Given the description of an element on the screen output the (x, y) to click on. 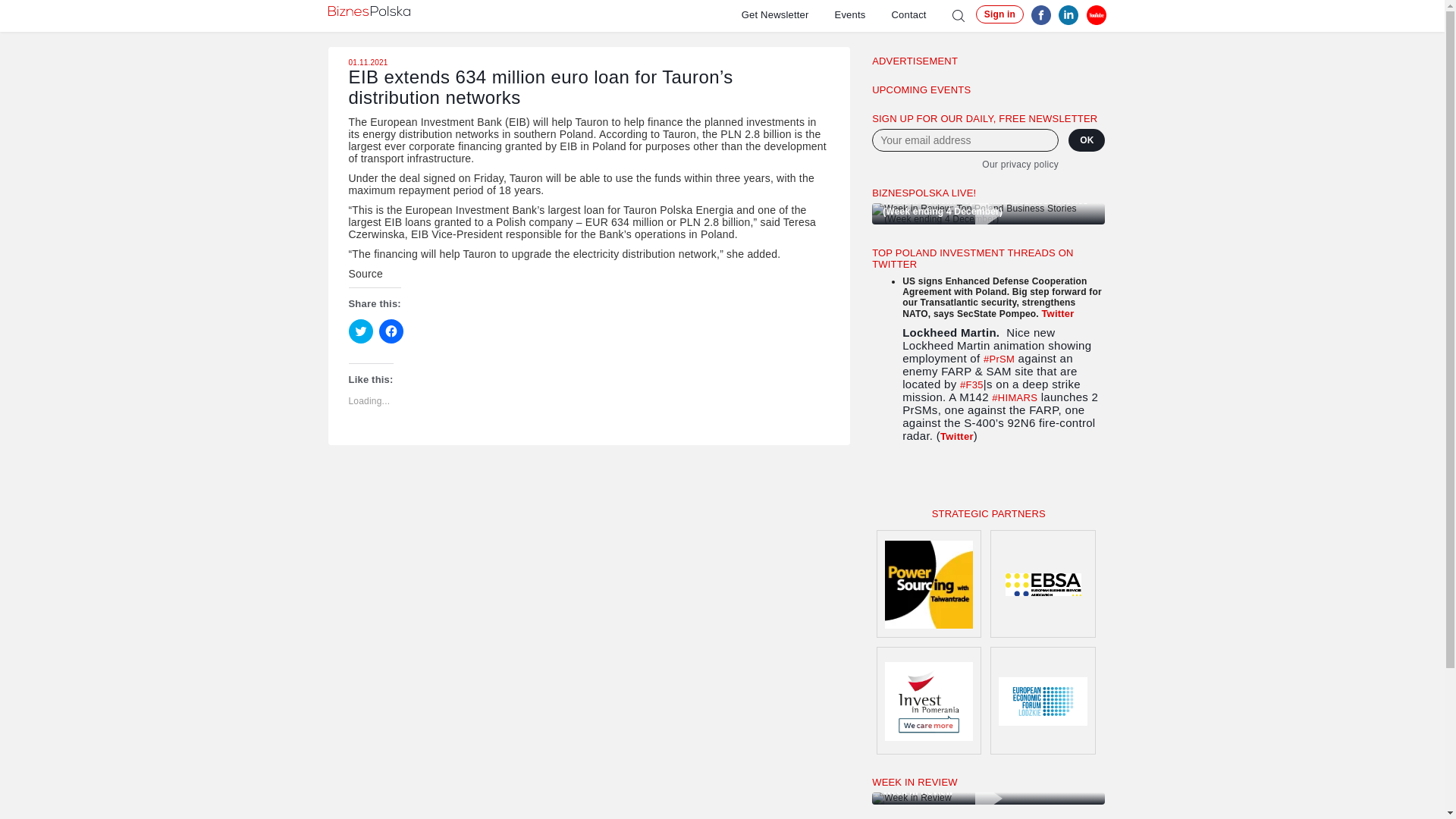
Get Newsletter (787, 14)
OK (1086, 139)
Click to share on Facebook (390, 331)
Biznes Polska (368, 10)
Our privacy policy (965, 163)
Sign in (999, 13)
Week in Review (988, 798)
Get Newsletter (787, 14)
Events (862, 14)
Twitter (957, 436)
SIGN UP (911, 479)
Contact (921, 14)
OK (1086, 139)
Contact (921, 14)
Click to share on Twitter (360, 331)
